Given the description of an element on the screen output the (x, y) to click on. 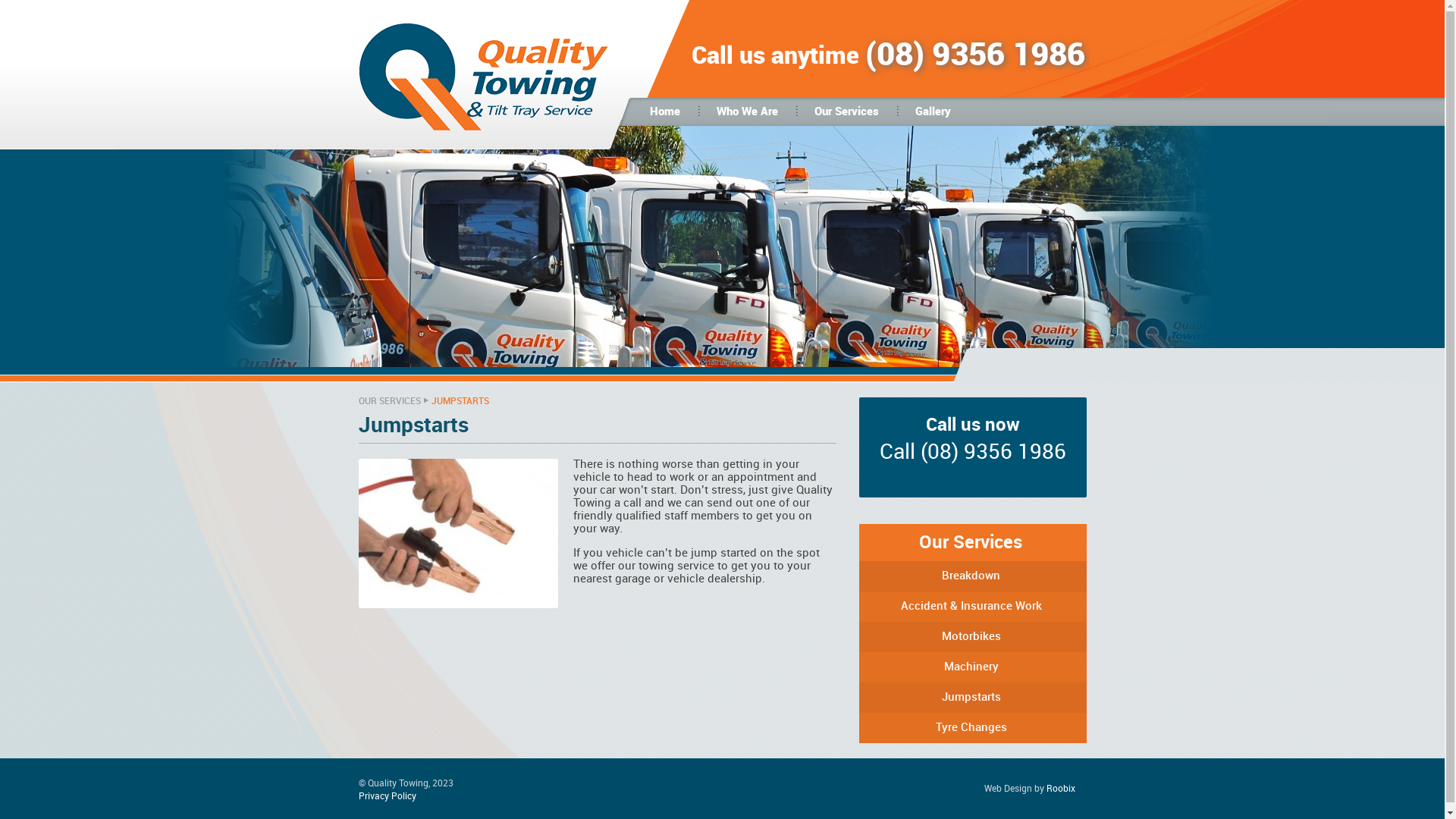
Privacy Policy Element type: text (386, 796)
Accident & Insurance Work Element type: text (971, 606)
(08) 9356 1986 Element type: text (993, 452)
Machinery Element type: text (971, 667)
Breakdown Element type: text (971, 576)
Motorbikes Element type: text (971, 636)
Quality Towing Element type: hover (482, 128)
Jumpstarts Element type: hover (721, 295)
OUR SERVICES Element type: text (388, 401)
Tyre Changes Element type: text (971, 727)
Home Element type: text (664, 111)
Roobix Element type: text (1060, 788)
Who We Are Element type: text (747, 111)
Our Services Element type: text (845, 111)
Gallery Element type: text (932, 111)
Jumpstarts Element type: text (971, 697)
Jumpstarts Element type: hover (457, 533)
